Given the description of an element on the screen output the (x, y) to click on. 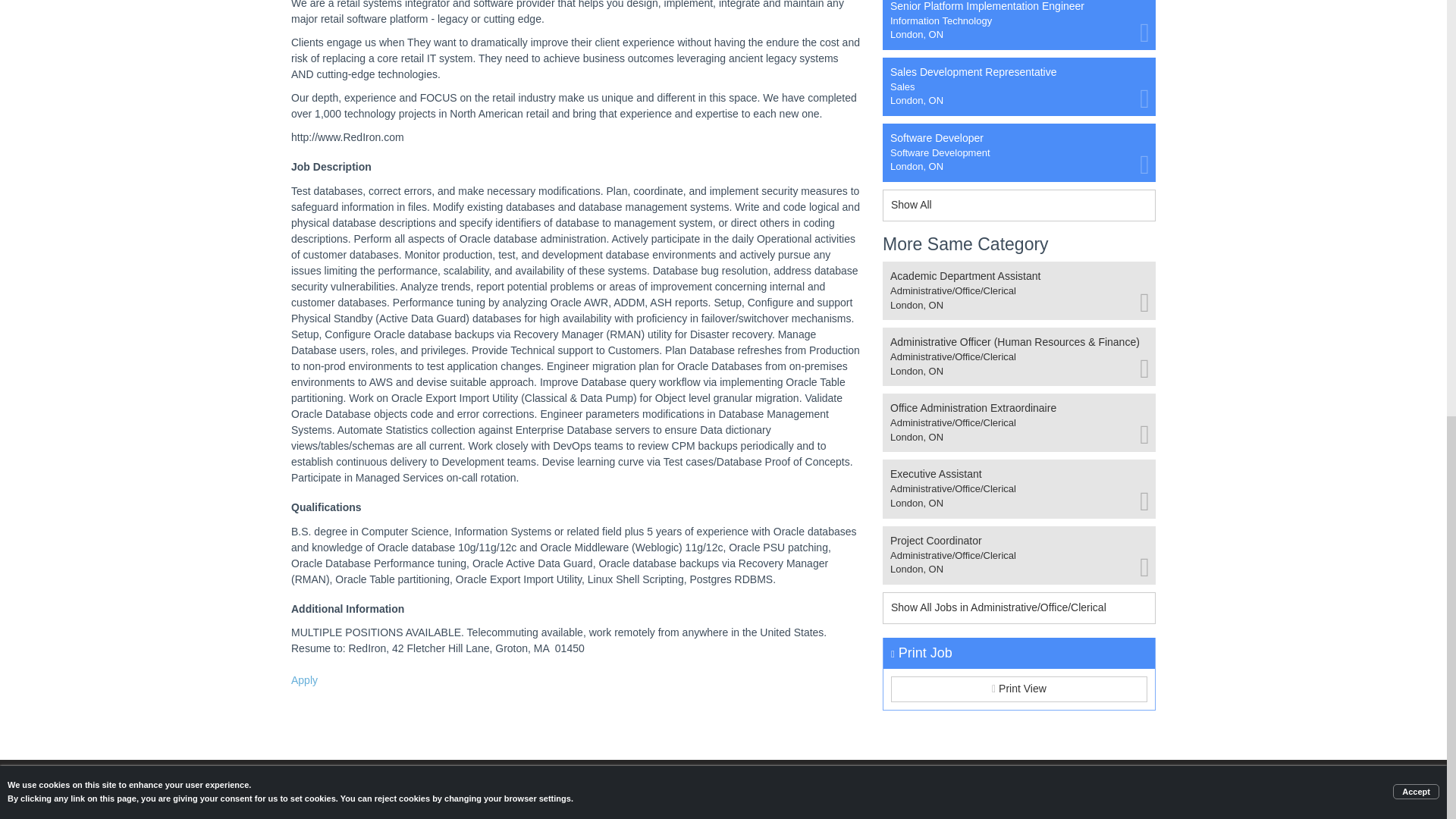
Print View (1019, 152)
Apply (1019, 688)
Show All (304, 680)
